Given the description of an element on the screen output the (x, y) to click on. 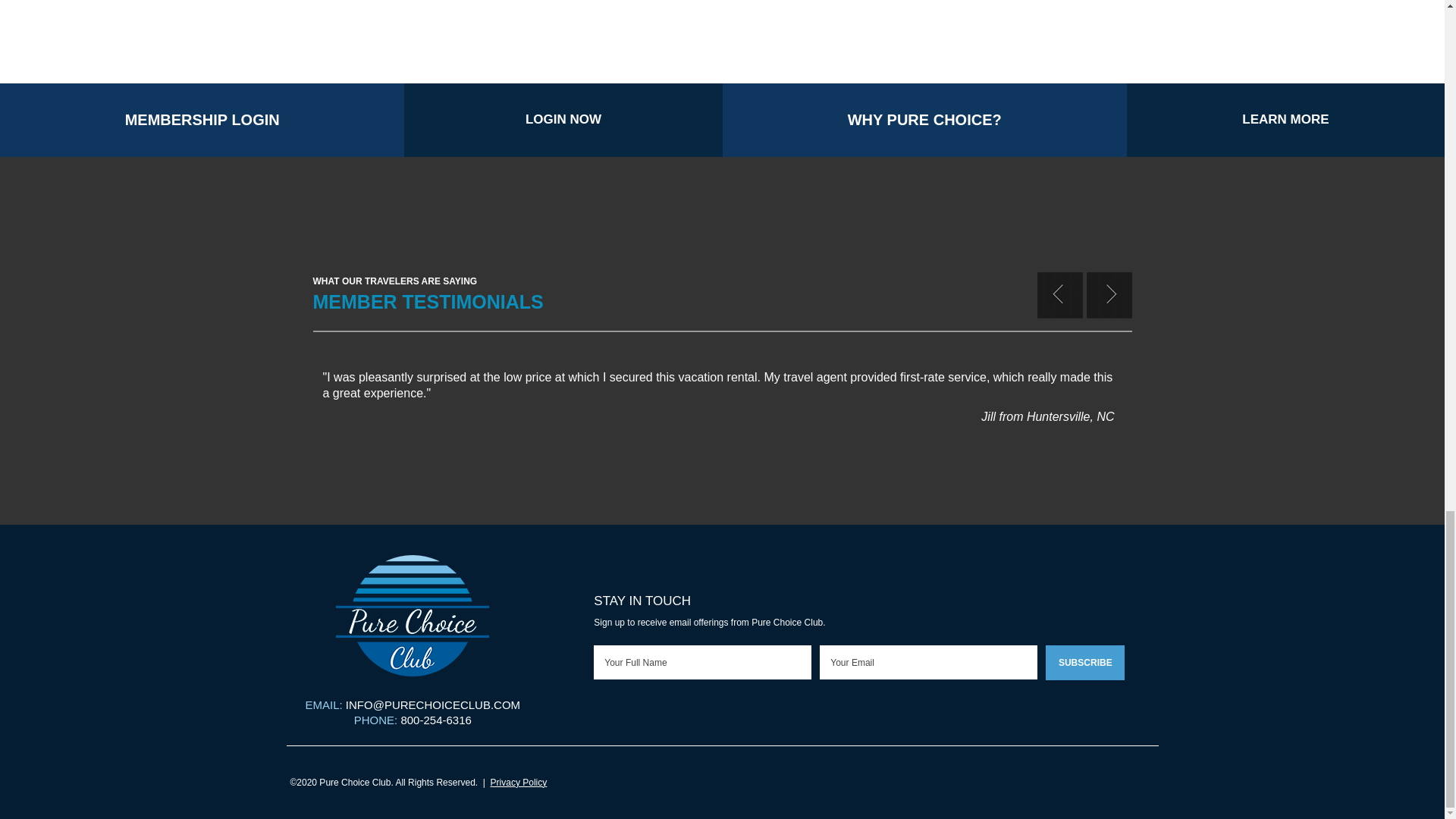
Privacy Policy (518, 782)
LOGIN NOW (563, 120)
800-254-6316 (435, 719)
SUBSCRIBE (1084, 662)
MEMBERSHIP LOGIN (202, 120)
WHY PURE CHOICE? (923, 120)
